Given the description of an element on the screen output the (x, y) to click on. 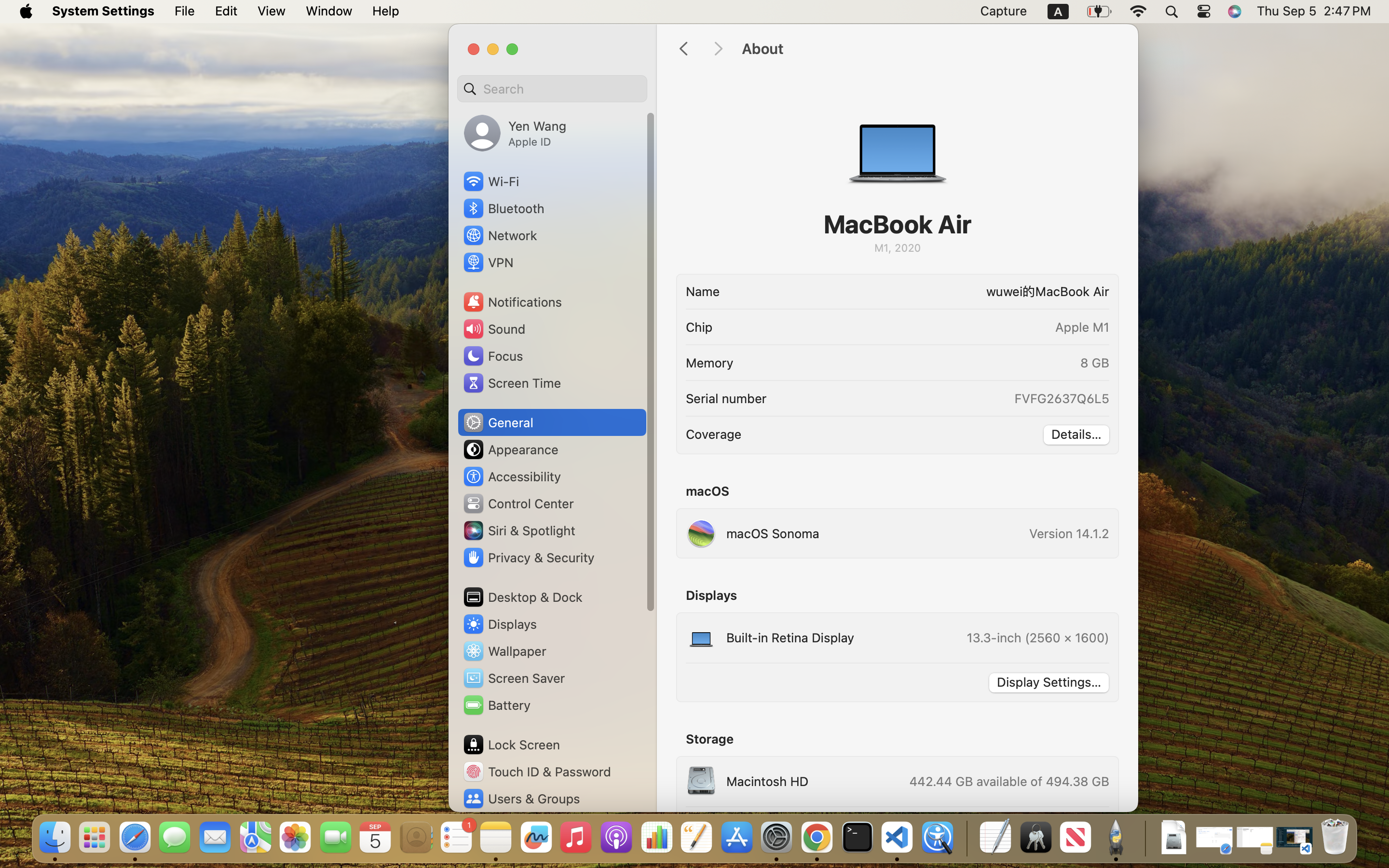
Memory Element type: AXStaticText (709, 362)
13.3-inch (2560 × 1600) Element type: AXStaticText (1037, 637)
M1, 2020 Element type: AXStaticText (896, 247)
Battery Element type: AXStaticText (496, 704)
Focus Element type: AXStaticText (492, 355)
